Given the description of an element on the screen output the (x, y) to click on. 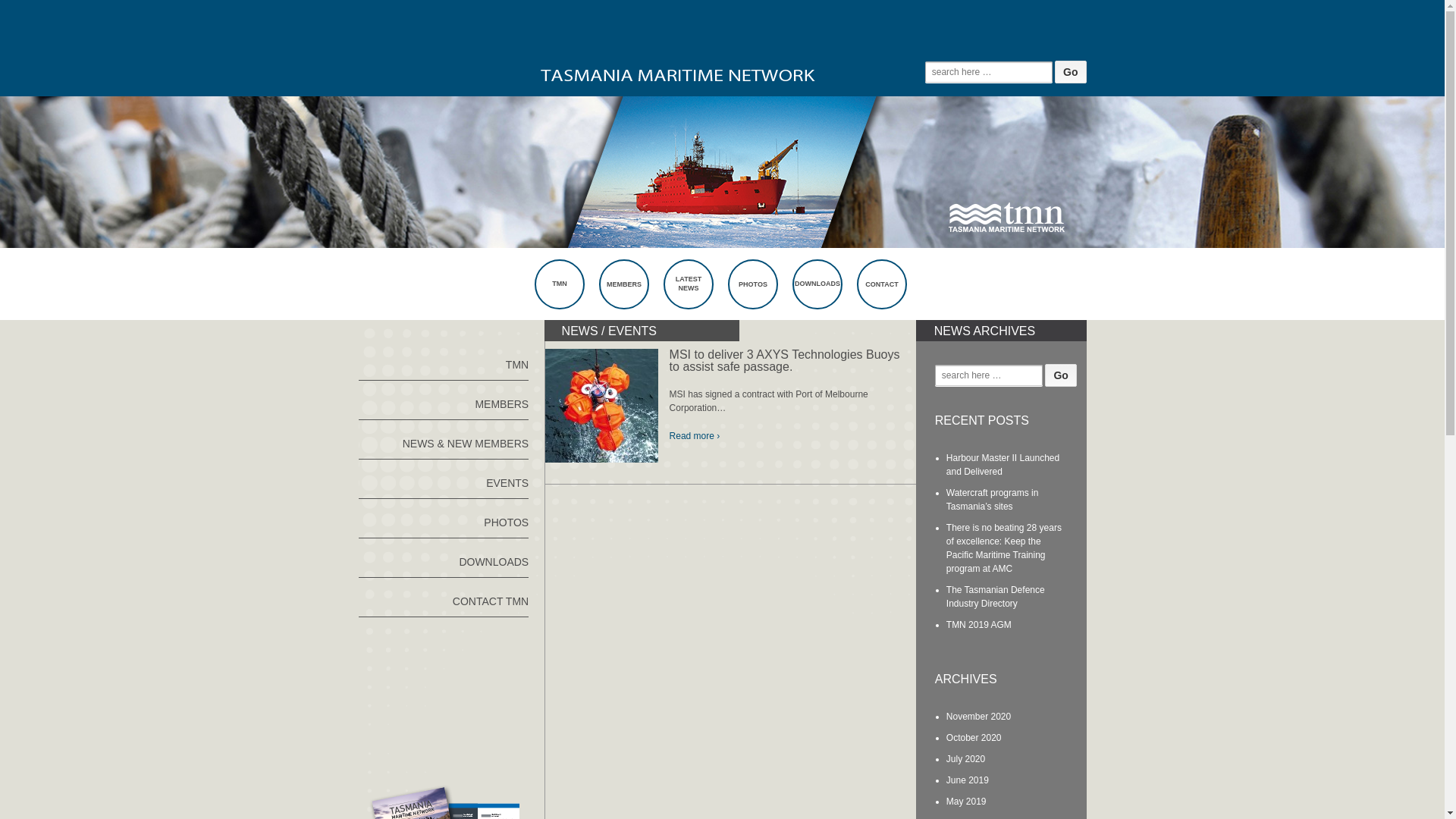
TMN Element type: text (559, 286)
CONTACT TMN Element type: text (442, 596)
Go Element type: text (1069, 71)
May 2019 Element type: text (966, 801)
MEMBERS Element type: text (442, 399)
The Tasmanian Defence Industry Directory Element type: text (995, 596)
PHOTOS Element type: text (753, 286)
MEMBERS Element type: text (624, 286)
EVENTS Element type: text (442, 478)
DOWNLOADS Element type: text (817, 286)
July 2020 Element type: text (965, 758)
October 2020 Element type: text (973, 737)
LATEST
NEWS Element type: text (688, 283)
DOWNLOADS Element type: text (442, 557)
Harbour Master II Launched and Delivered Element type: text (1002, 464)
PHOTOS Element type: text (442, 517)
June 2019 Element type: text (967, 780)
TMN Element type: text (442, 360)
CONTACT Element type: text (881, 286)
Go Element type: text (1060, 375)
TMN 2019 AGM Element type: text (978, 624)
November 2020 Element type: text (978, 716)
NEWS & NEW MEMBERS Element type: text (442, 439)
